Given the description of an element on the screen output the (x, y) to click on. 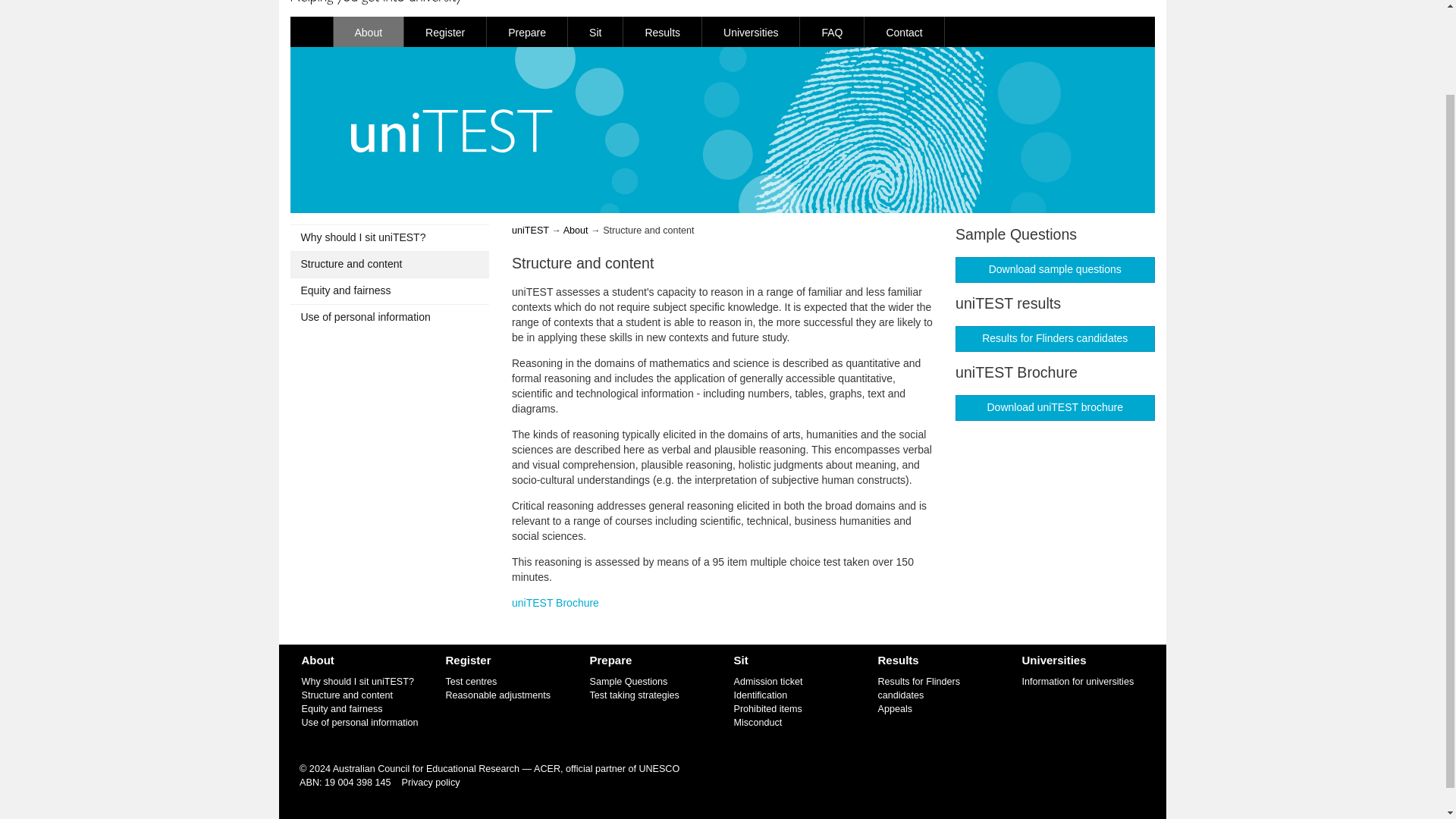
uniTEST Brochure (555, 603)
uniTEST (530, 230)
Download uniTEST brochure (1054, 407)
FAQ (831, 31)
Use of personal information (389, 317)
Download sample questions (1054, 269)
Universities (750, 31)
Structure and content (347, 695)
Results (662, 31)
Why should I sit uniTEST? (389, 237)
About (575, 230)
About (368, 31)
Sit (595, 31)
Results for Flinders candidates (1054, 338)
Contact (903, 31)
